Given the description of an element on the screen output the (x, y) to click on. 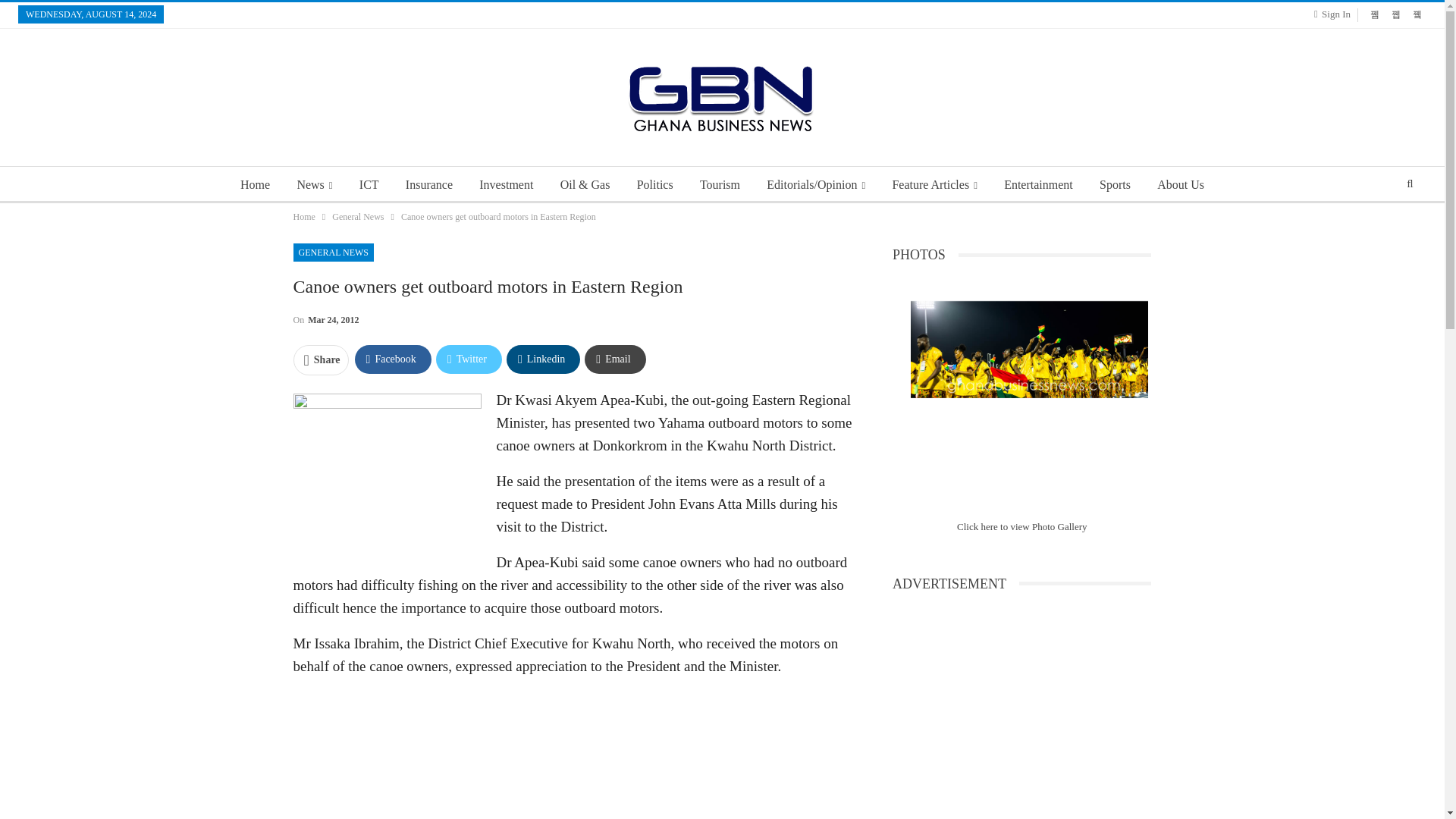
Sign In (1335, 13)
Canoes (386, 472)
Home (255, 185)
Tourism (719, 185)
13th-African-games-47 (1029, 380)
Politics (654, 185)
Entertainment (1037, 185)
Email (615, 358)
Investment (505, 185)
Home (303, 216)
